Given the description of an element on the screen output the (x, y) to click on. 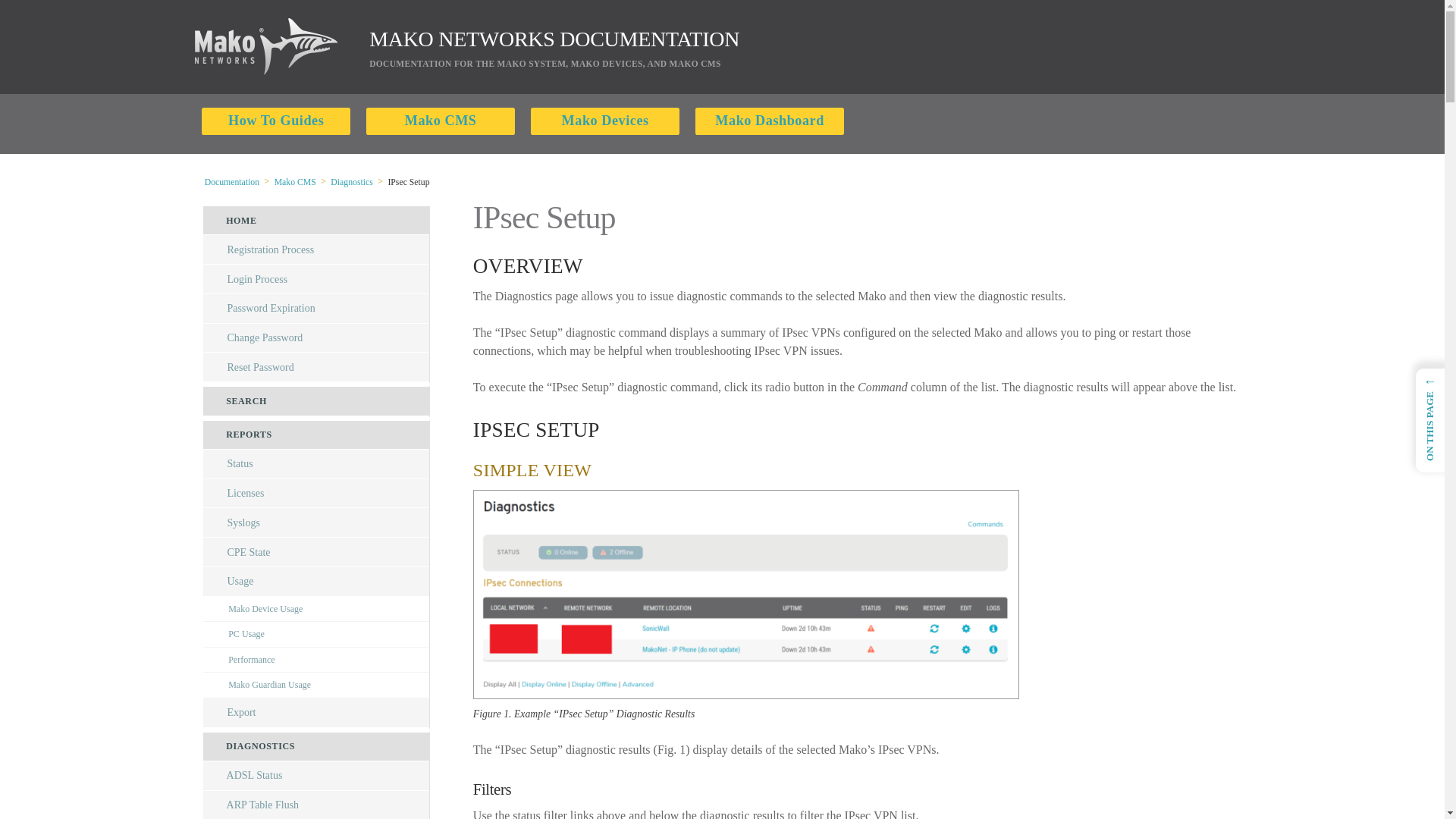
Go to Diagnostics. (352, 181)
   Mako Guardian Usage (316, 685)
How To Guides (275, 120)
   Status (316, 464)
   Login Process (316, 279)
   Licenses (316, 493)
   PC Usage (316, 634)
Mako Dashboard (769, 120)
Mako CMS (440, 120)
   ARP Table Flush (316, 805)
